Given the description of an element on the screen output the (x, y) to click on. 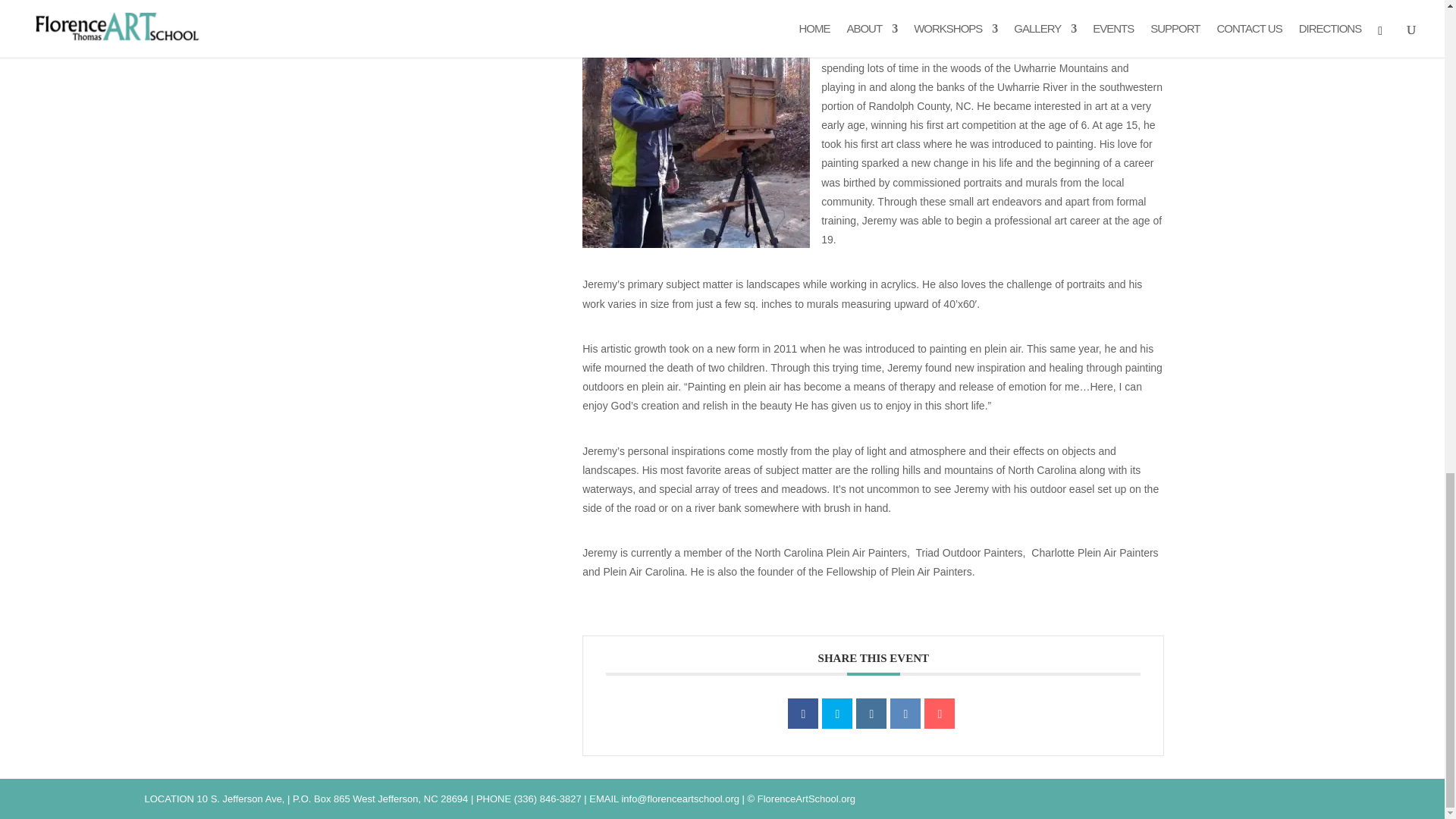
VK (904, 713)
Share on Facebook (802, 713)
Tweet (836, 713)
Email (939, 713)
Linkedin (871, 713)
